Given the description of an element on the screen output the (x, y) to click on. 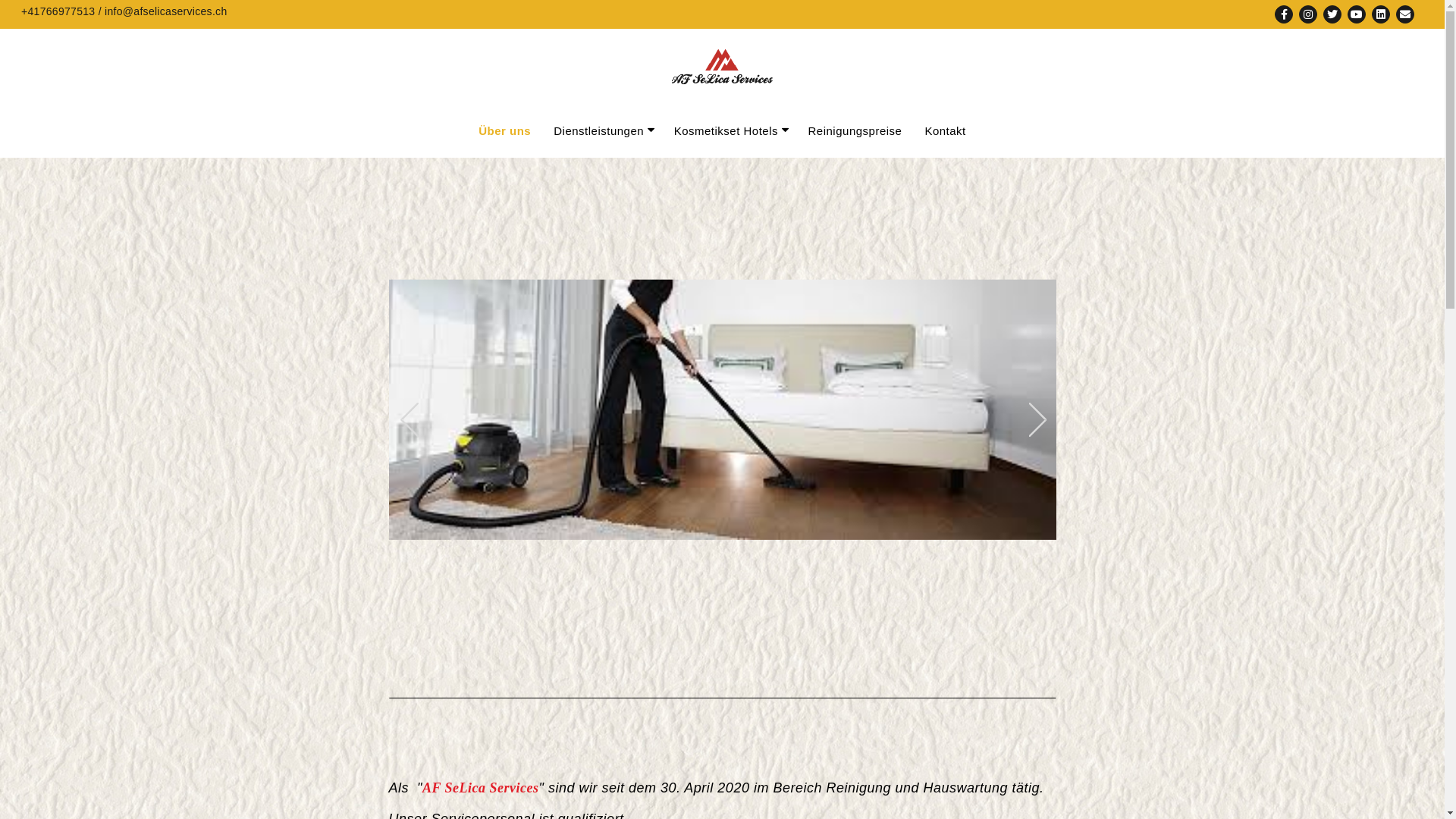
Kontakt Element type: text (944, 130)
Kosmetikset Hotels Element type: text (726, 130)
Dienstleistungen Element type: text (598, 130)
Reinigungspreise Element type: text (855, 130)
